Given the description of an element on the screen output the (x, y) to click on. 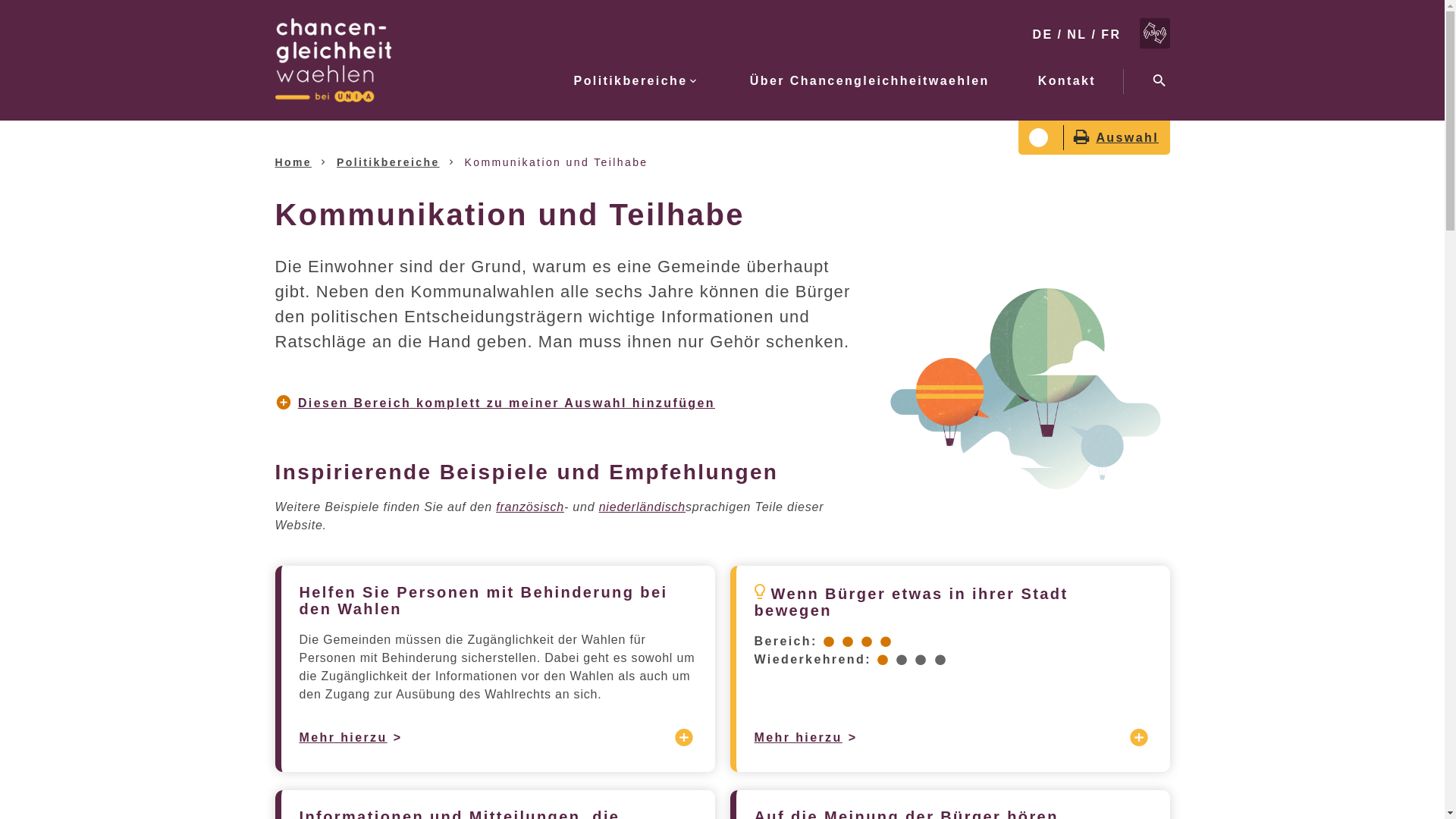
Home Element type: text (292, 162)
Kommunikation und Teilhabe Element type: text (556, 162)
Politikbereiche Element type: text (387, 162)
voeg toe Element type: text (684, 737)
Helfen Sie Personen mit Behinderung bei den Wahlen Element type: text (482, 600)
Mehr hierzu Element type: text (797, 737)
print
Auswahl Element type: text (1110, 137)
Kontakt Element type: text (1060, 80)
Mehr hierzu Element type: text (342, 737)
FR Element type: text (1110, 33)
Politikbereiche Element type: text (631, 80)
DE Element type: text (1042, 33)
NL Element type: text (1076, 33)
voeg toe Element type: text (1139, 737)
